Given the description of an element on the screen output the (x, y) to click on. 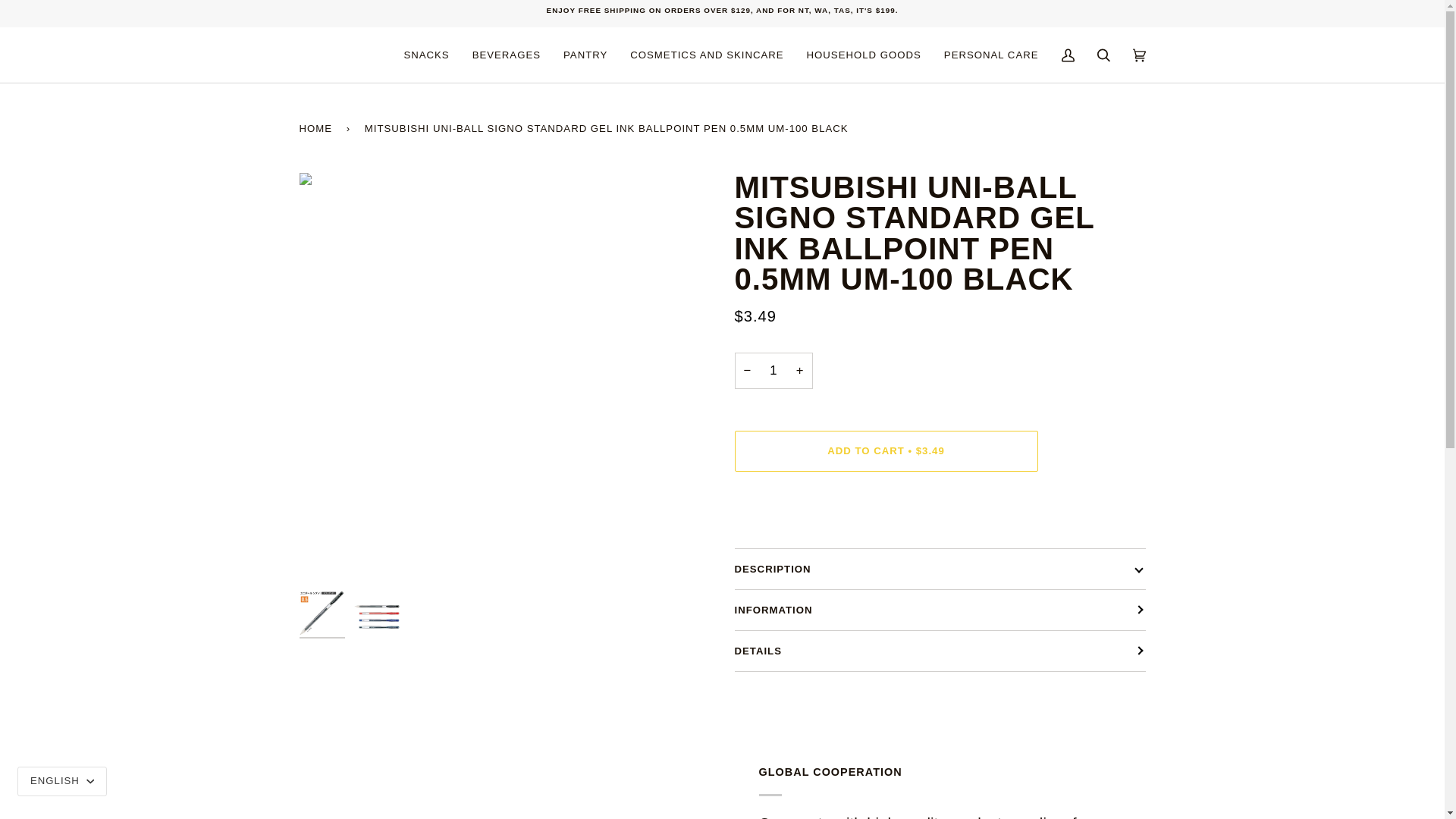
HOUSEHOLD GOODS (863, 54)
SNACKS (425, 54)
Back to the frontpage (317, 127)
1 (772, 370)
COSMETICS AND SKINCARE (706, 54)
PERSONAL CARE (991, 54)
PANTRY (584, 54)
BEVERAGES (506, 54)
